Given the description of an element on the screen output the (x, y) to click on. 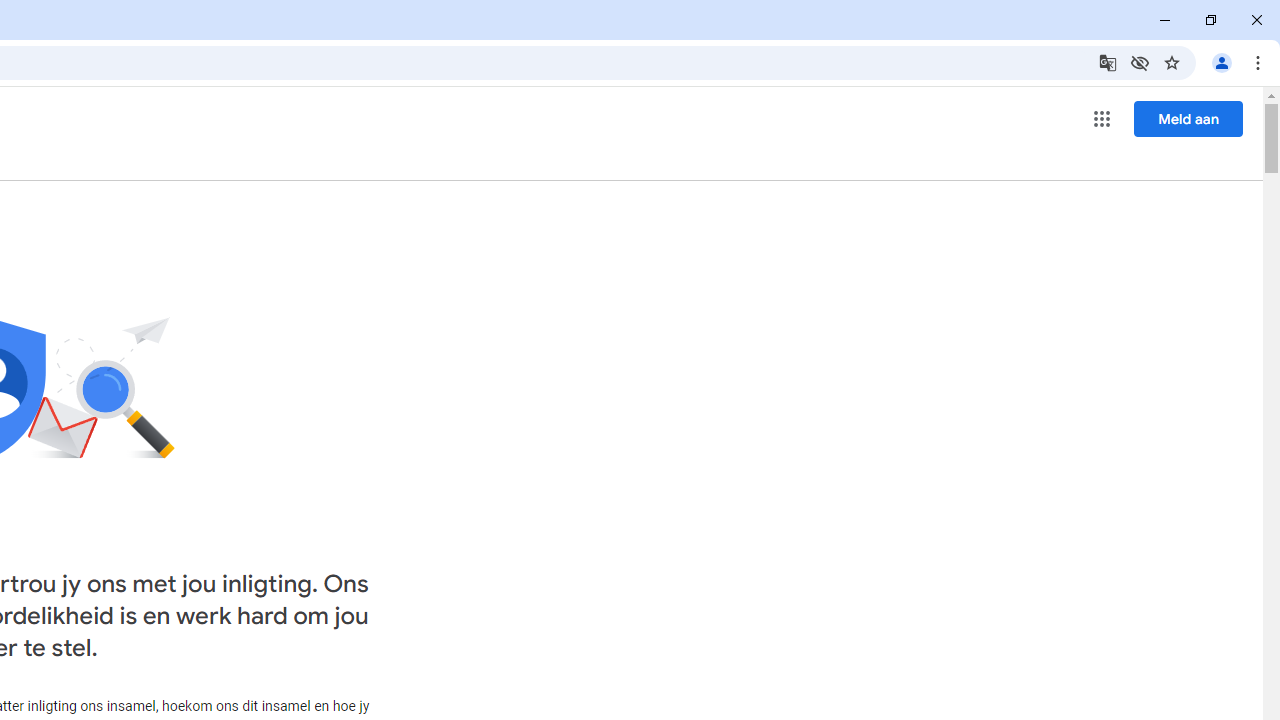
Page right (129, 356)
Cancel (1152, 491)
Page left (40, 356)
Editing (1101, 84)
Voice Selection (85, 417)
Next Paragraph (87, 263)
Start a conversation (990, 422)
Play (36, 263)
